Given the description of an element on the screen output the (x, y) to click on. 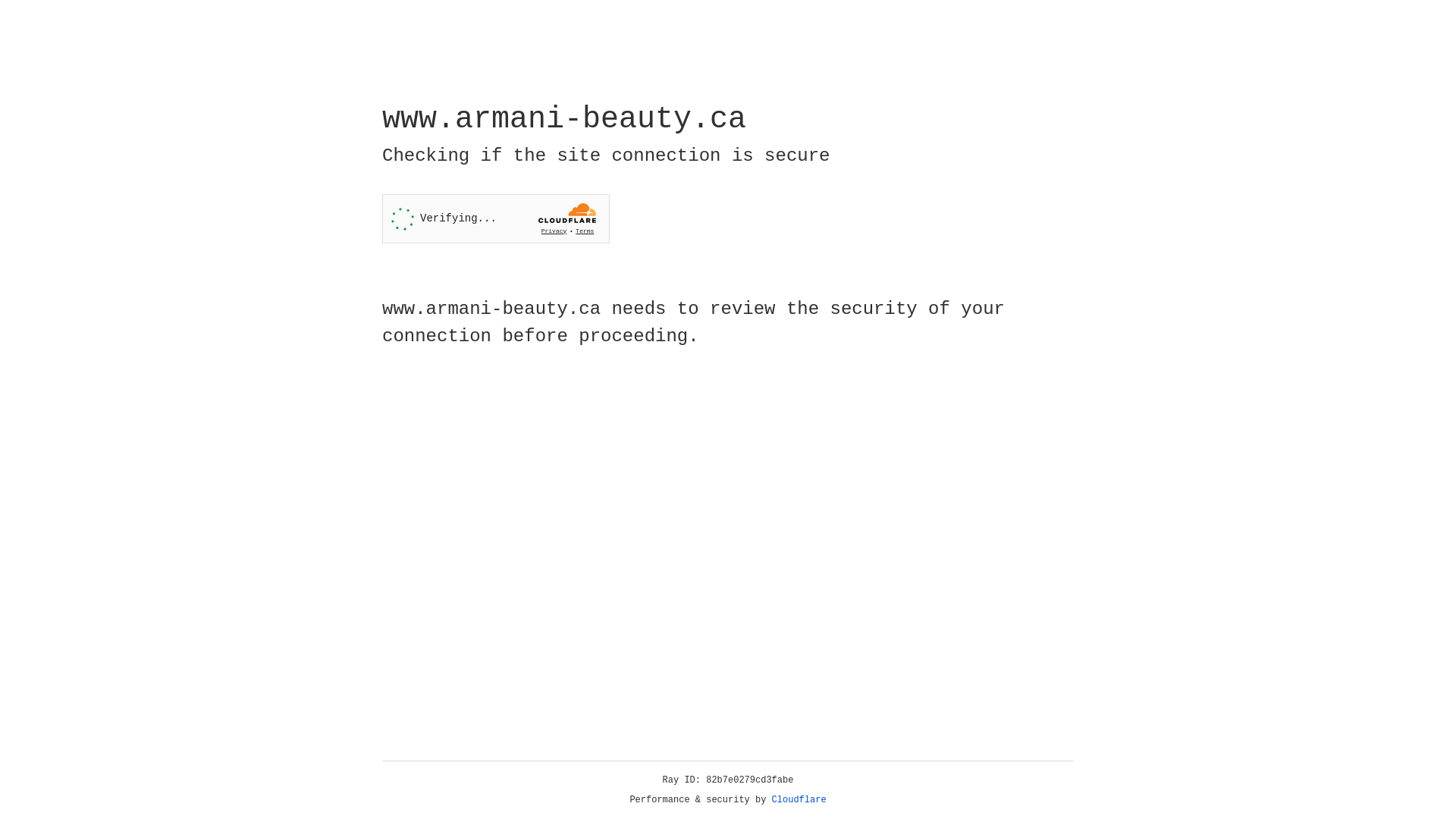
Widget containing a Cloudflare security challenge Element type: hover (495, 218)
Cloudflare Element type: text (798, 799)
